Given the description of an element on the screen output the (x, y) to click on. 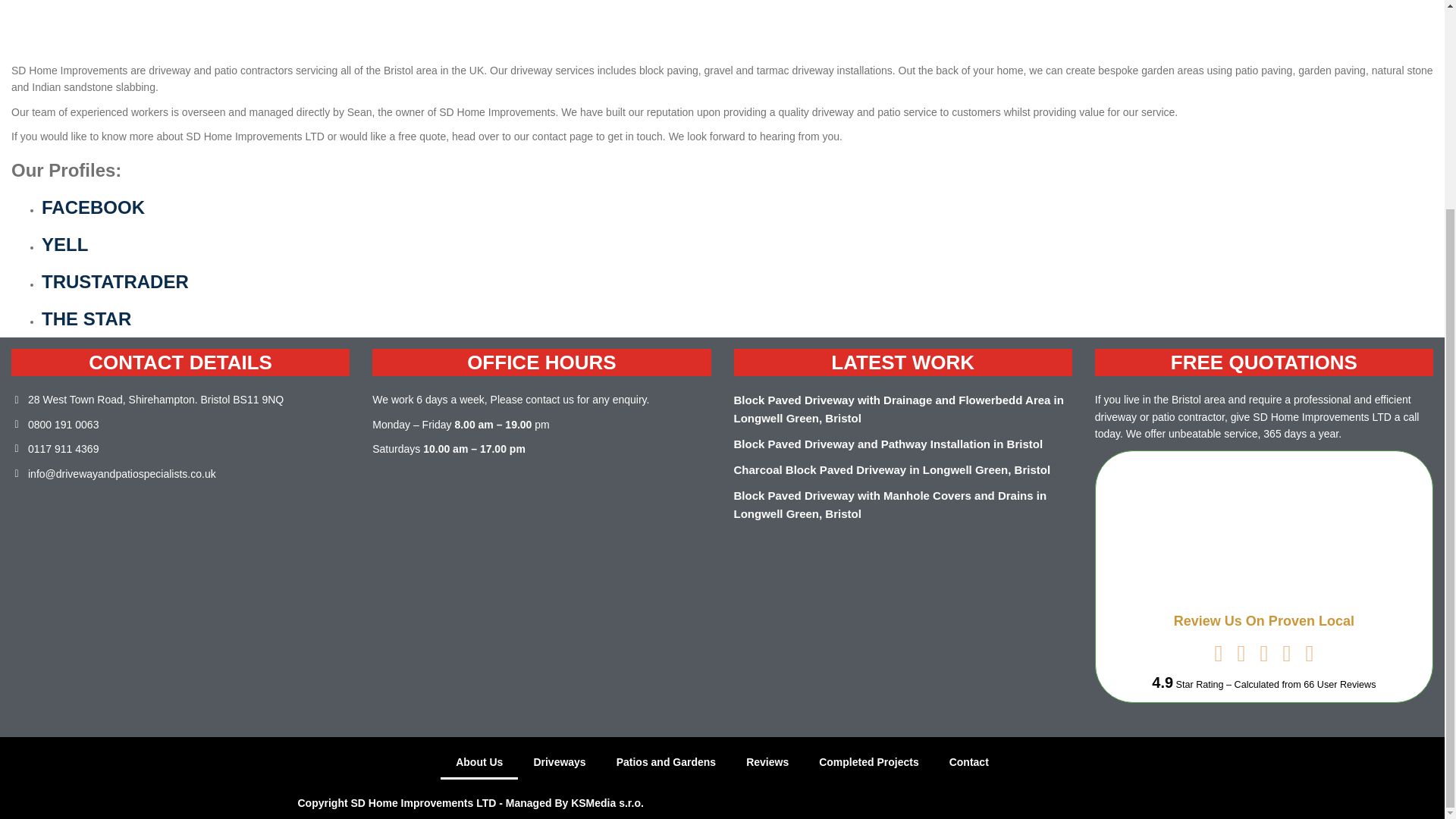
THE STAR (86, 318)
TRUSTATRADER (115, 281)
YELL (64, 244)
FACEBOOK (93, 207)
View Reviews Of SD Home Improvements (1339, 684)
0117 911 4369 (55, 448)
